Given the description of an element on the screen output the (x, y) to click on. 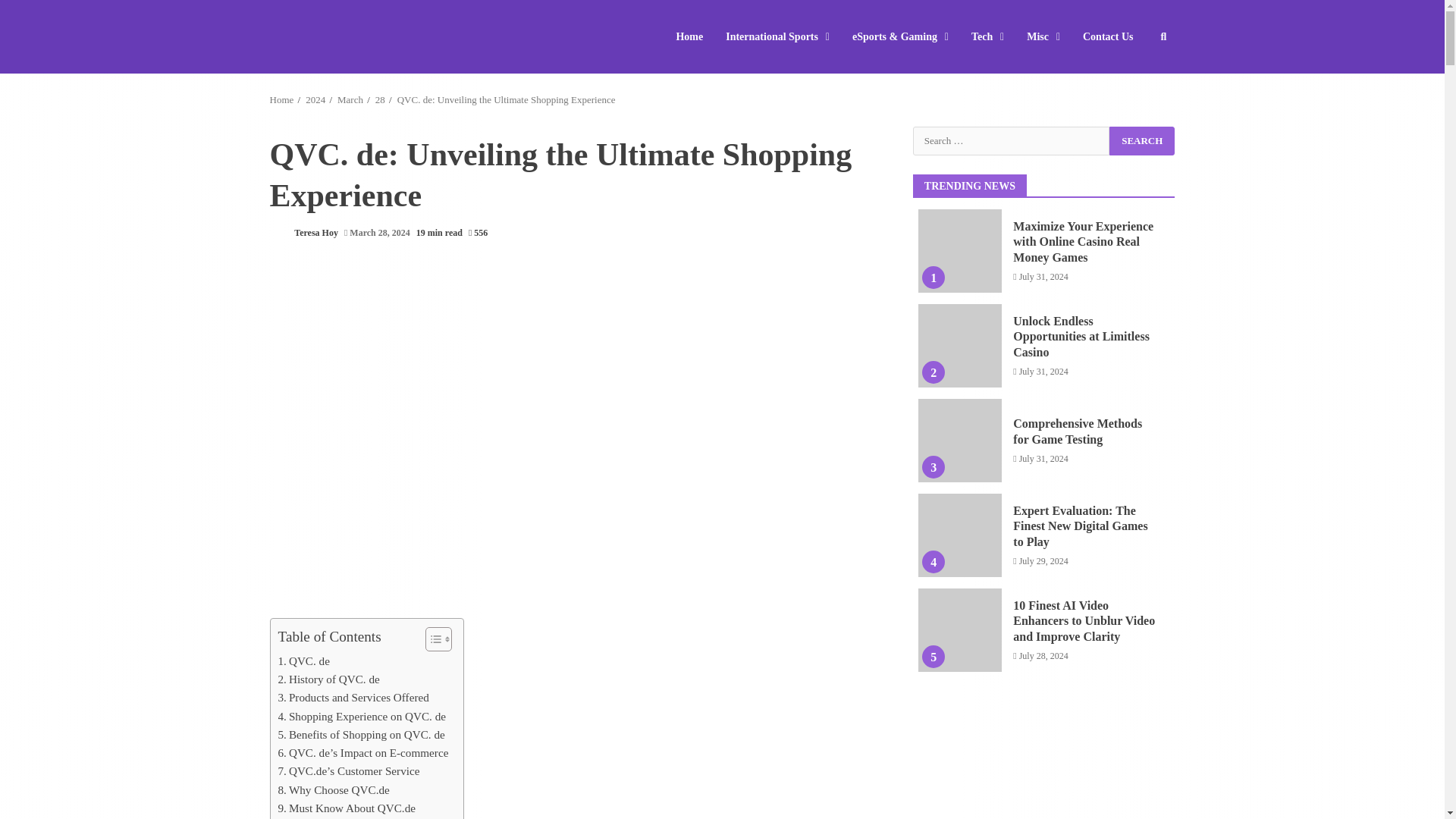
Teresa Hoy (303, 233)
Must Know About QVC.de (346, 808)
Search (1141, 140)
International Sports (777, 36)
Search (1135, 82)
QVC. de: Unveiling the Ultimate Shopping Experience (506, 99)
Tech (986, 36)
March (349, 99)
Why Choose QVC.de (333, 790)
Benefits of Shopping on QVC. de (361, 734)
